Given the description of an element on the screen output the (x, y) to click on. 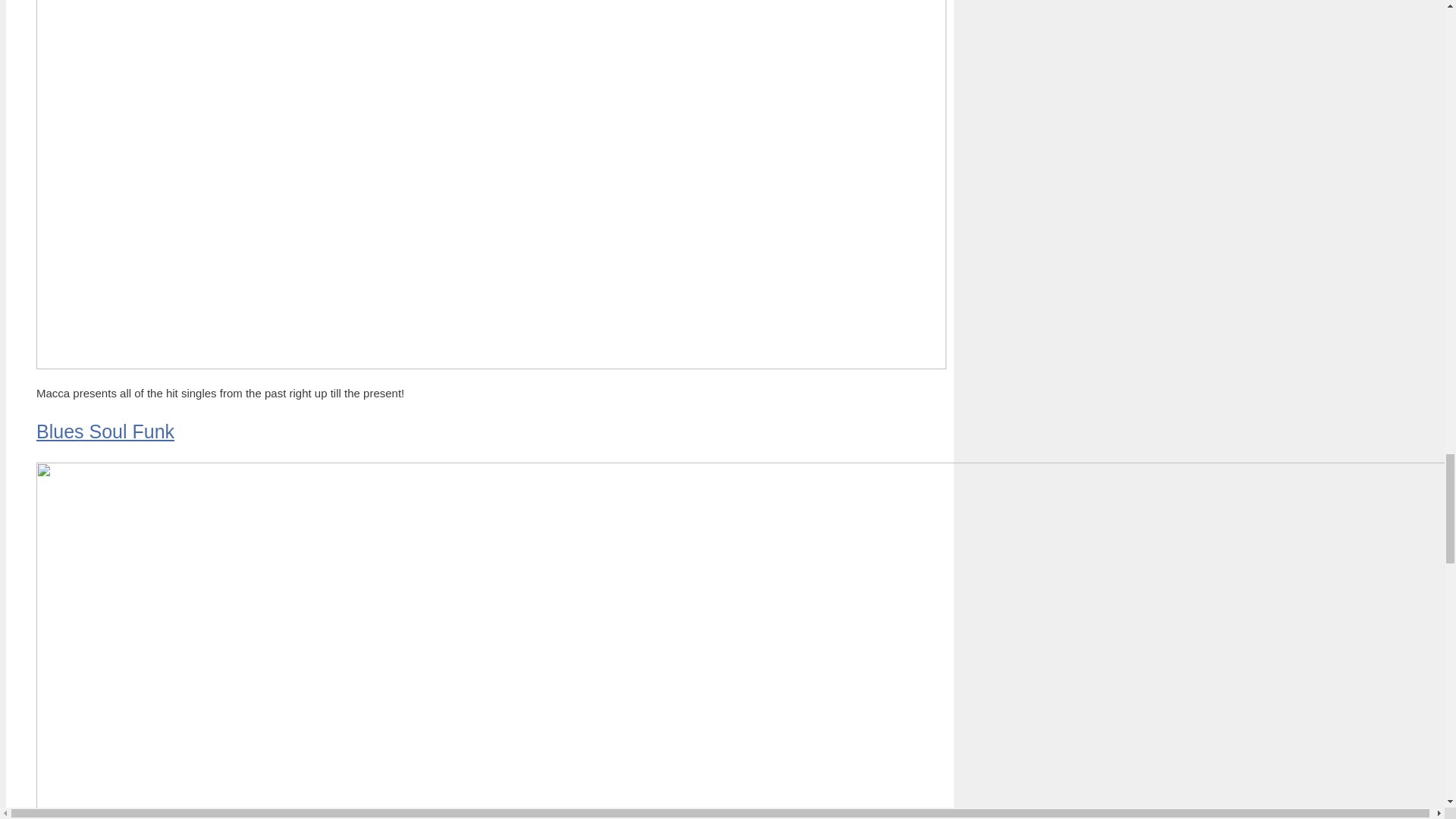
Blues Soul Funk (105, 431)
